Given the description of an element on the screen output the (x, y) to click on. 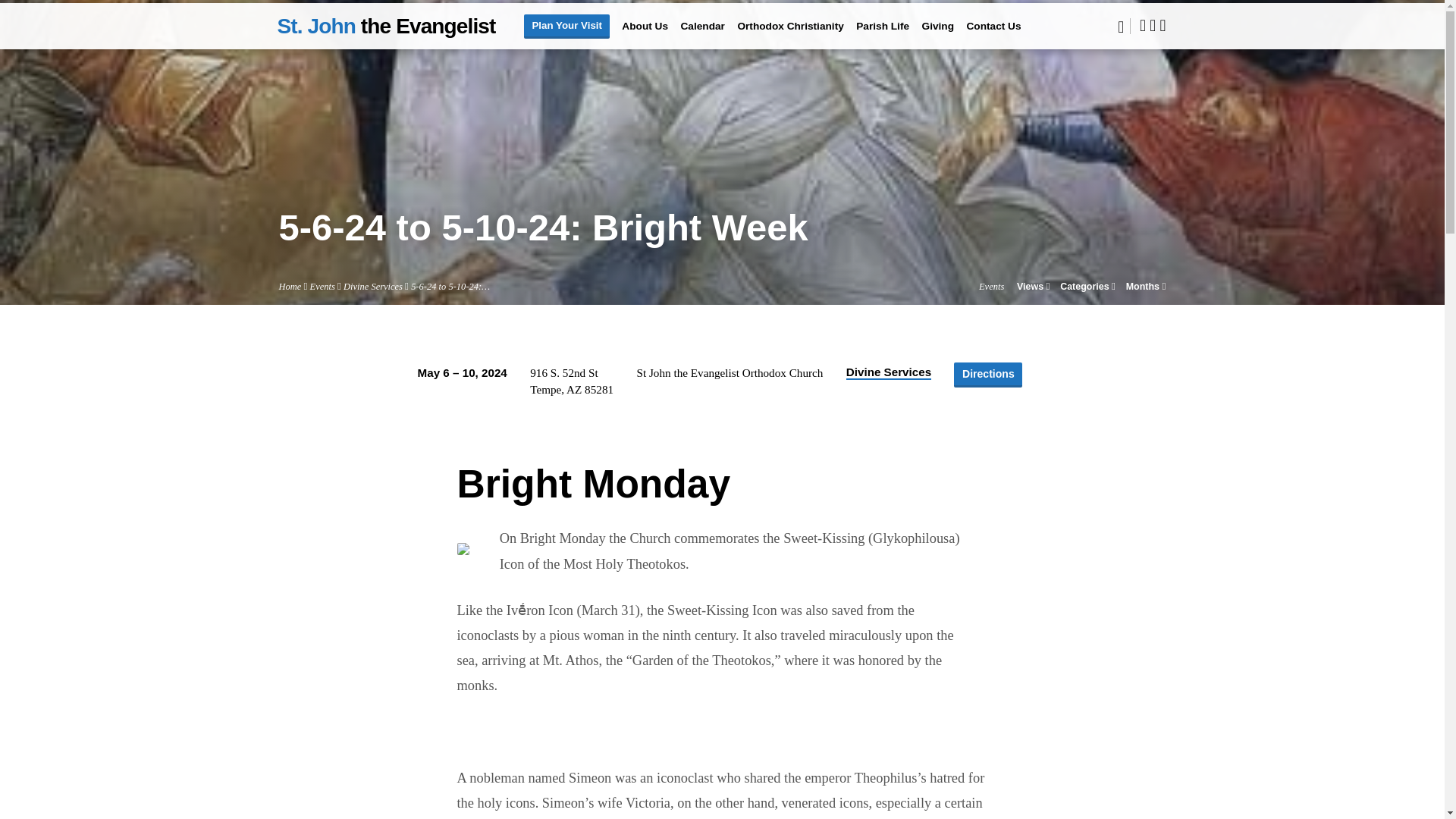
Parish Life (882, 35)
Giving (938, 35)
Calendar (703, 35)
Contact Us (993, 35)
About Us (644, 35)
Orthodox Christianity (789, 35)
Plan Your Visit (566, 25)
St. John the Evangelist (387, 24)
